Given the description of an element on the screen output the (x, y) to click on. 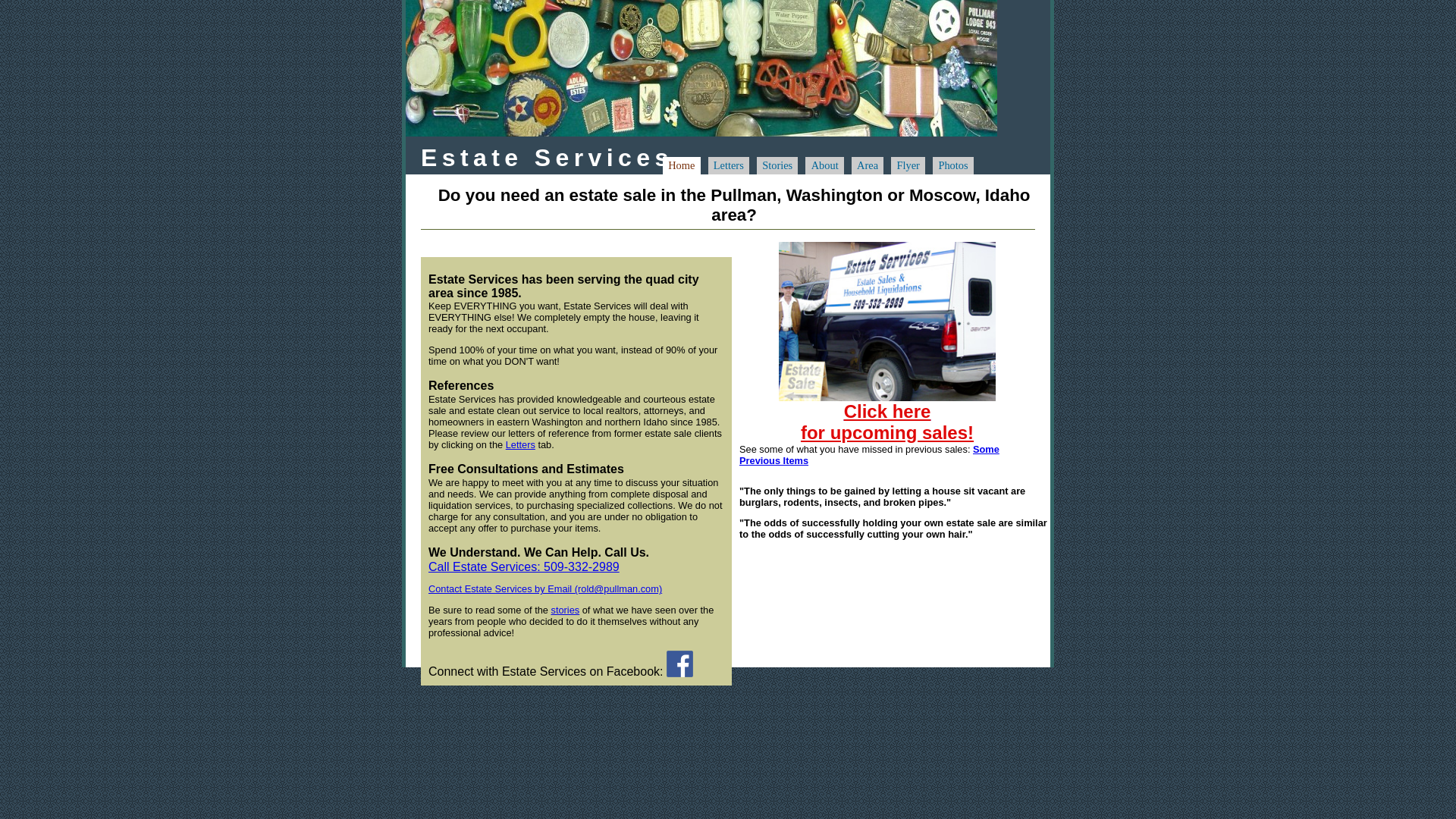
Letters (520, 444)
About (824, 165)
Stories (777, 165)
Home (887, 422)
Photos (681, 165)
Area (953, 165)
Letters (867, 165)
stories (728, 165)
Some Previous Items (564, 609)
Call Estate Services: 509-332-2989 (868, 454)
Moscow Idaho Estate Sale (524, 566)
Flyer (886, 321)
